Given the description of an element on the screen output the (x, y) to click on. 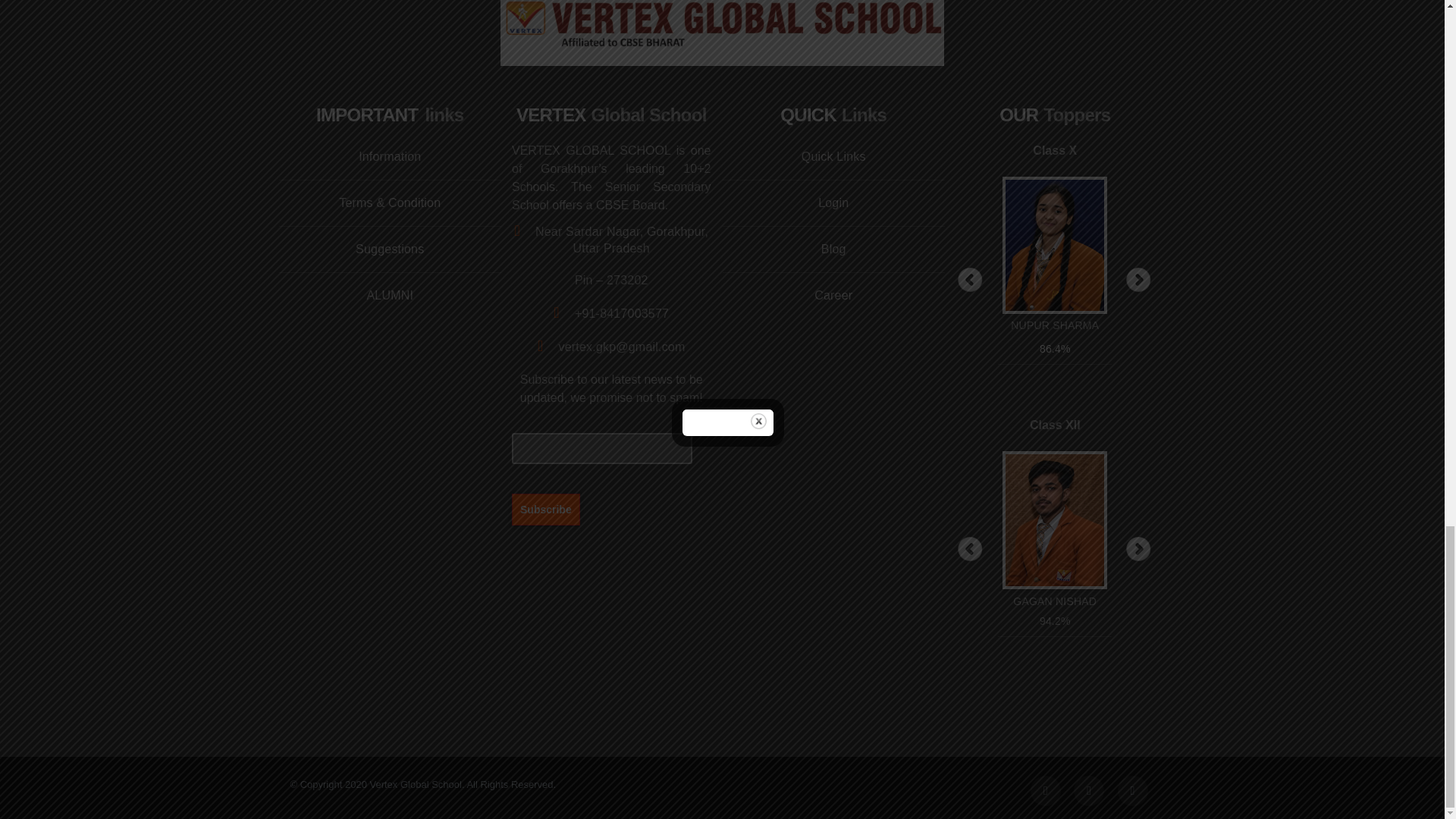
Subscribe (545, 508)
